Given the description of an element on the screen output the (x, y) to click on. 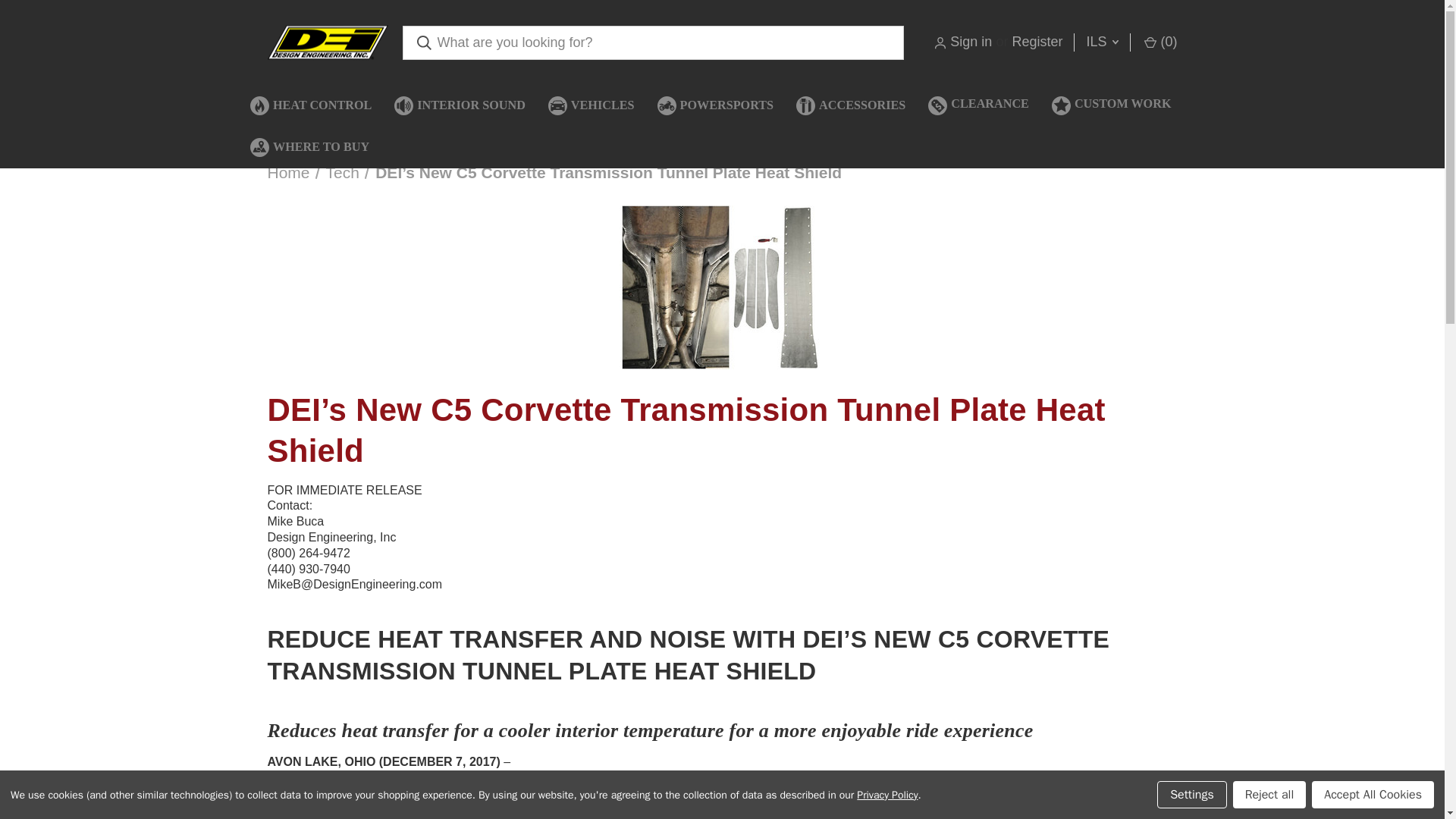
Register (1036, 41)
ILS (1101, 41)
Design Engineering, Inc (326, 42)
Sign in (970, 41)
